Given the description of an element on the screen output the (x, y) to click on. 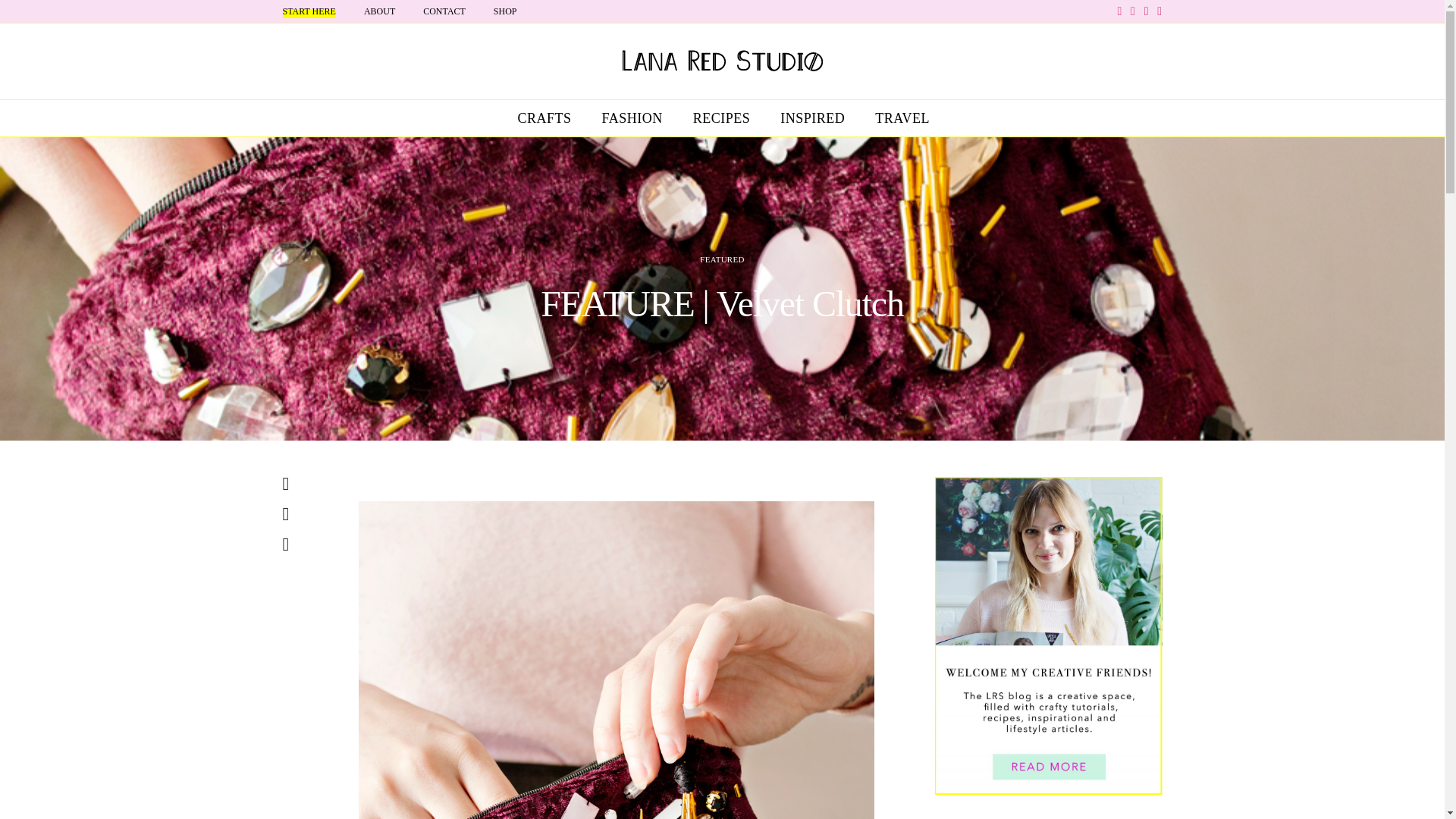
SHOP (504, 11)
CONTACT (444, 11)
ABOUT (379, 11)
START HERE (308, 11)
